Given the description of an element on the screen output the (x, y) to click on. 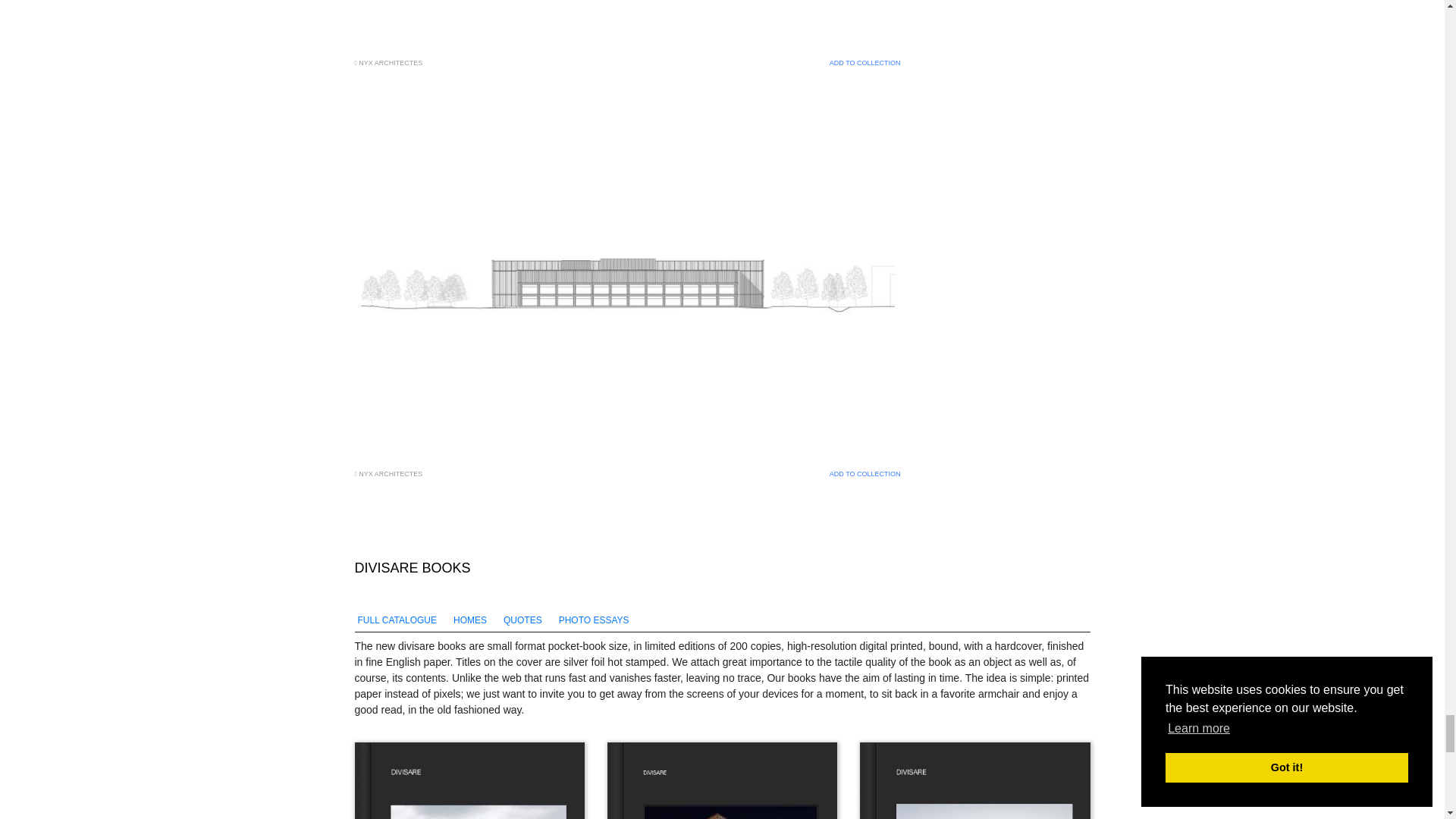
2001. JOYPARK. RUMELANGE PHOTO ESSAY BY MAXIME DELVAUX (470, 780)
